Given the description of an element on the screen output the (x, y) to click on. 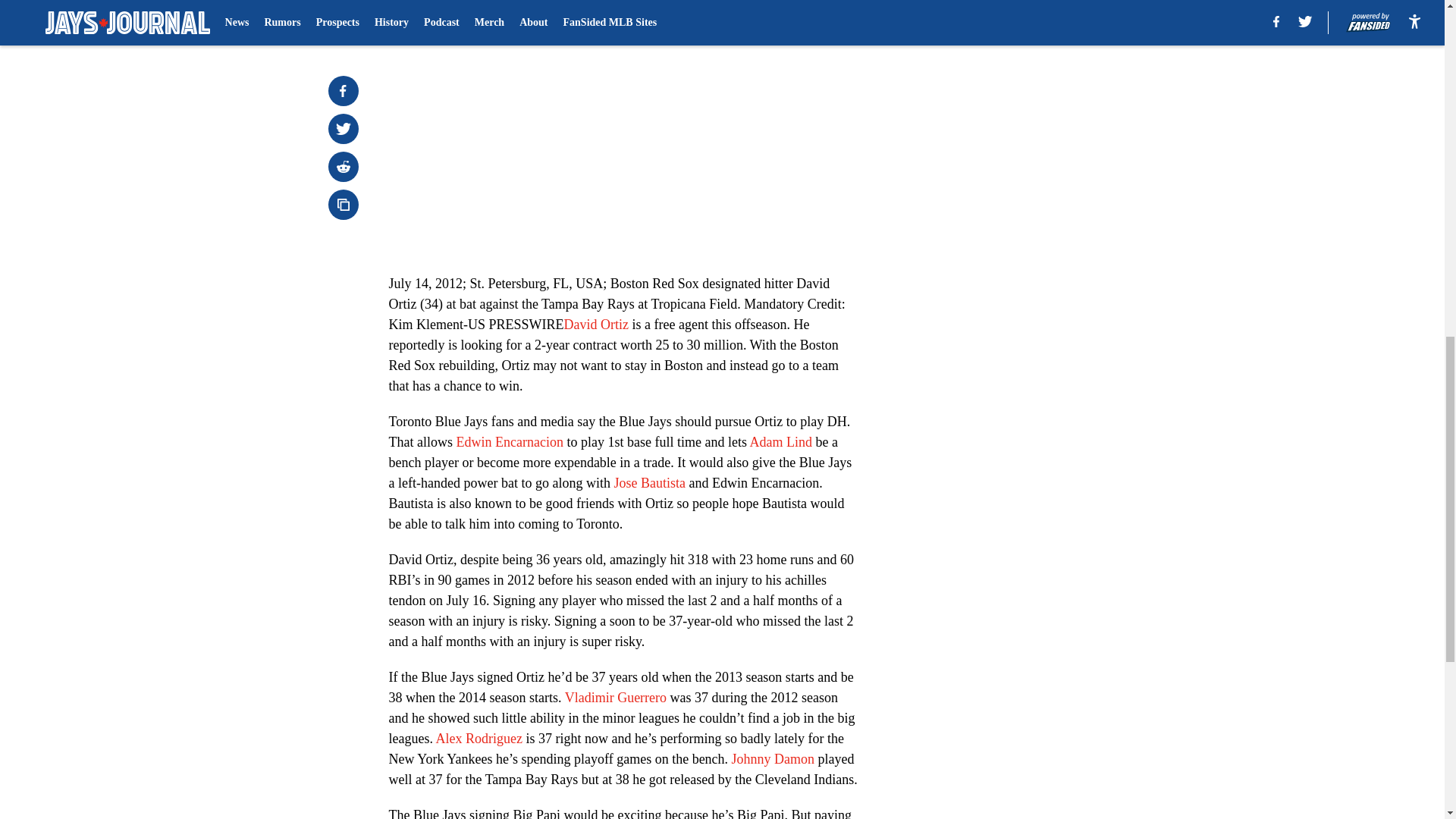
Edwin Encarnacion (508, 441)
Adam Lind (780, 441)
Jose Bautista (648, 482)
Alex Rodriguez (478, 738)
Johnny Damon (773, 758)
Vladimir Guerrero (615, 697)
David Ortiz (596, 324)
